Given the description of an element on the screen output the (x, y) to click on. 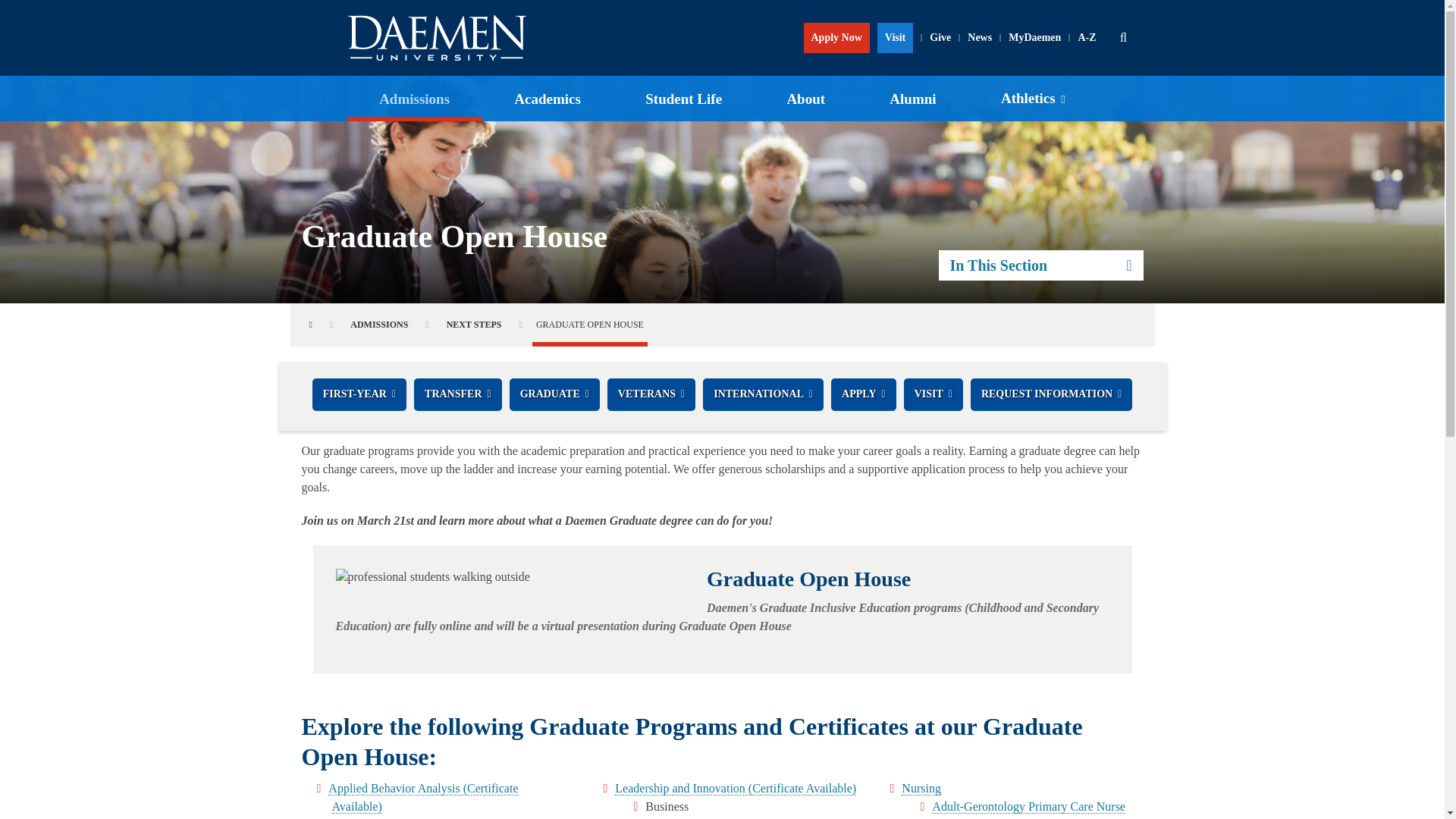
Academics (546, 98)
Student Life (683, 98)
Give (939, 37)
Visit (894, 37)
A-Z (1086, 37)
News (978, 37)
About (805, 98)
Apply Now (836, 37)
Admissions (414, 98)
Search (1123, 37)
Applied Behavior Analysis (424, 798)
Alumni (913, 98)
Athletics (1032, 98)
MyDaemen (1034, 37)
